Given the description of an element on the screen output the (x, y) to click on. 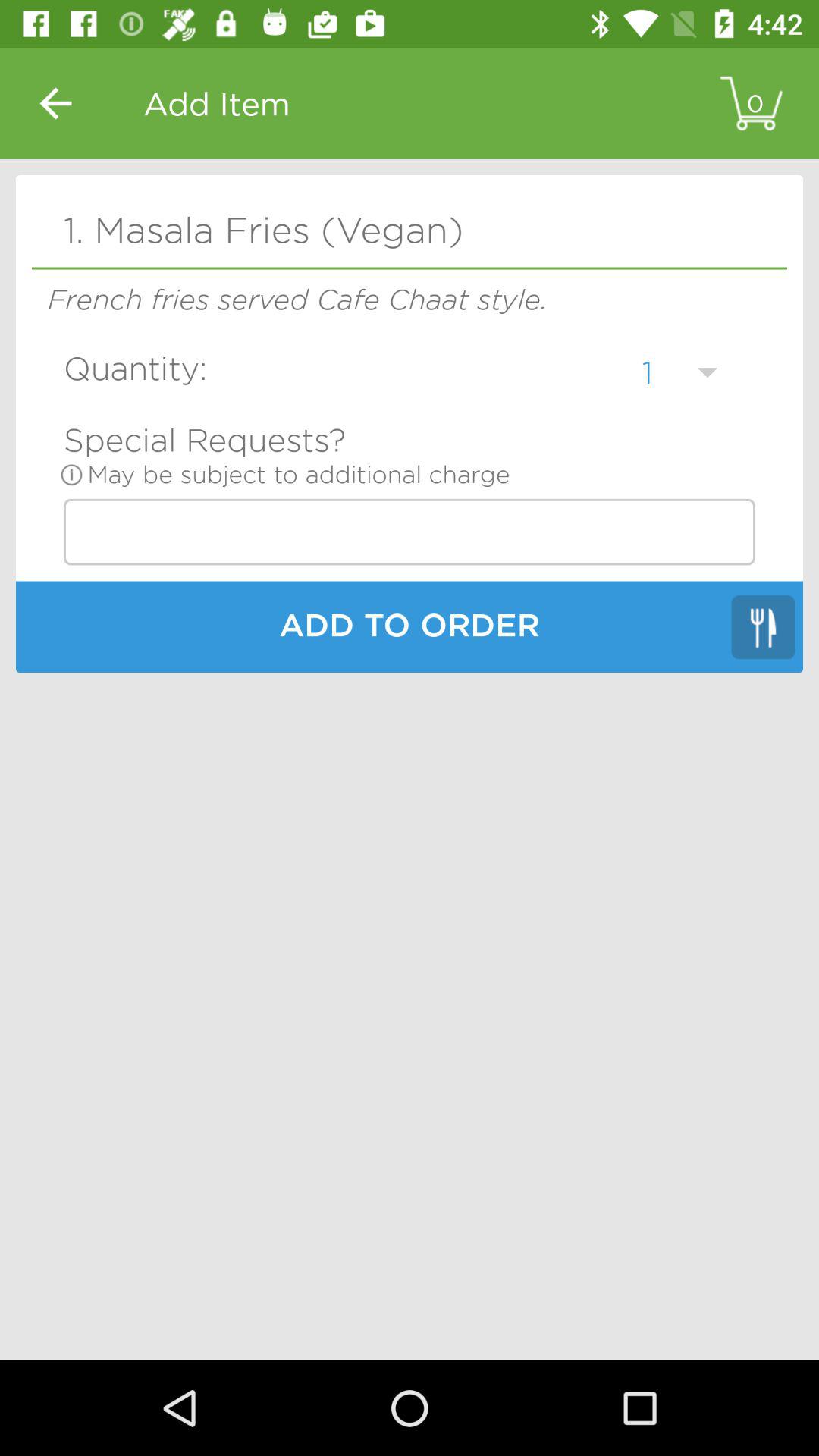
launch item next to the add item item (55, 103)
